Given the description of an element on the screen output the (x, y) to click on. 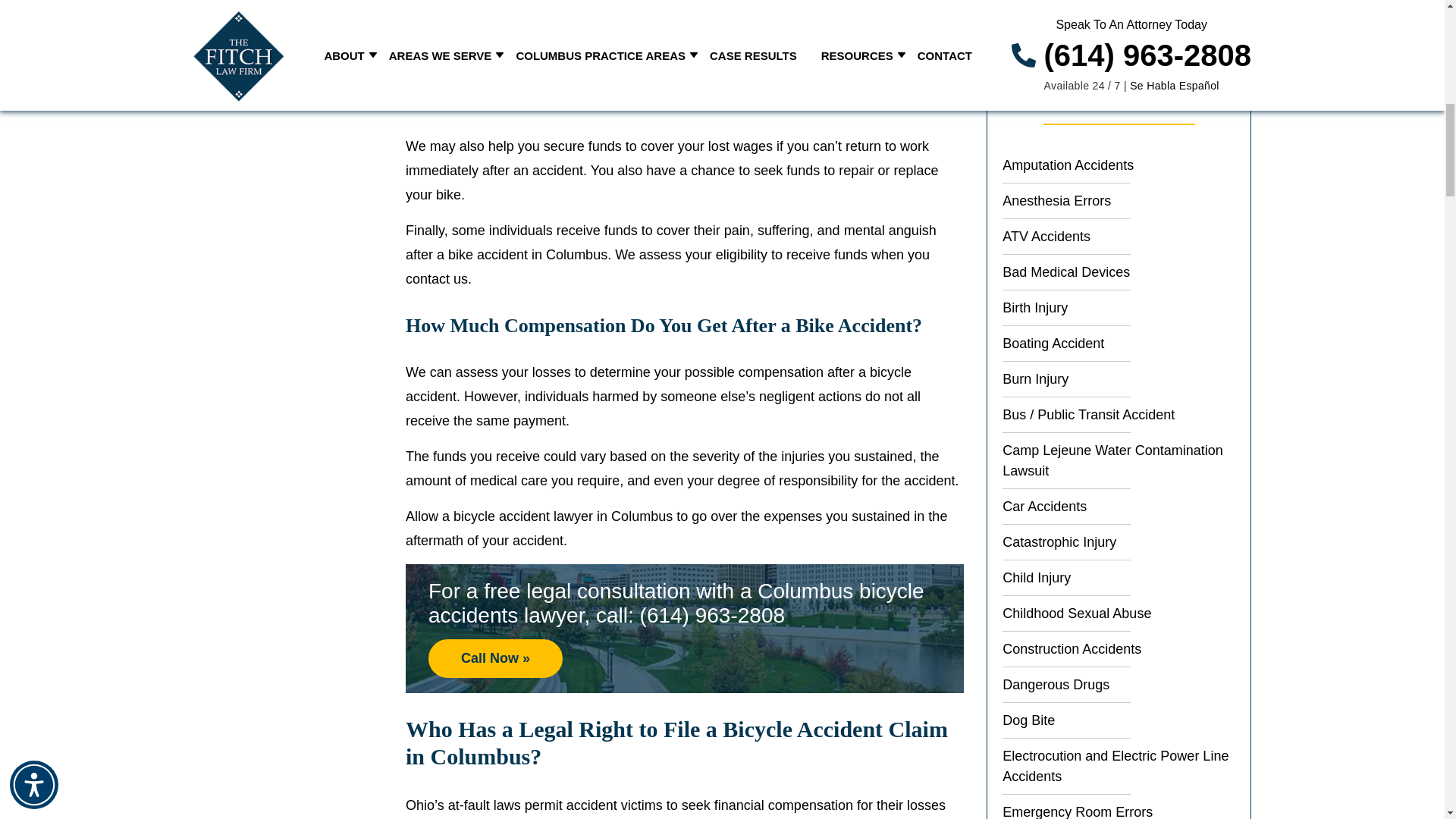
Submit Form (1118, 6)
